Given the description of an element on the screen output the (x, y) to click on. 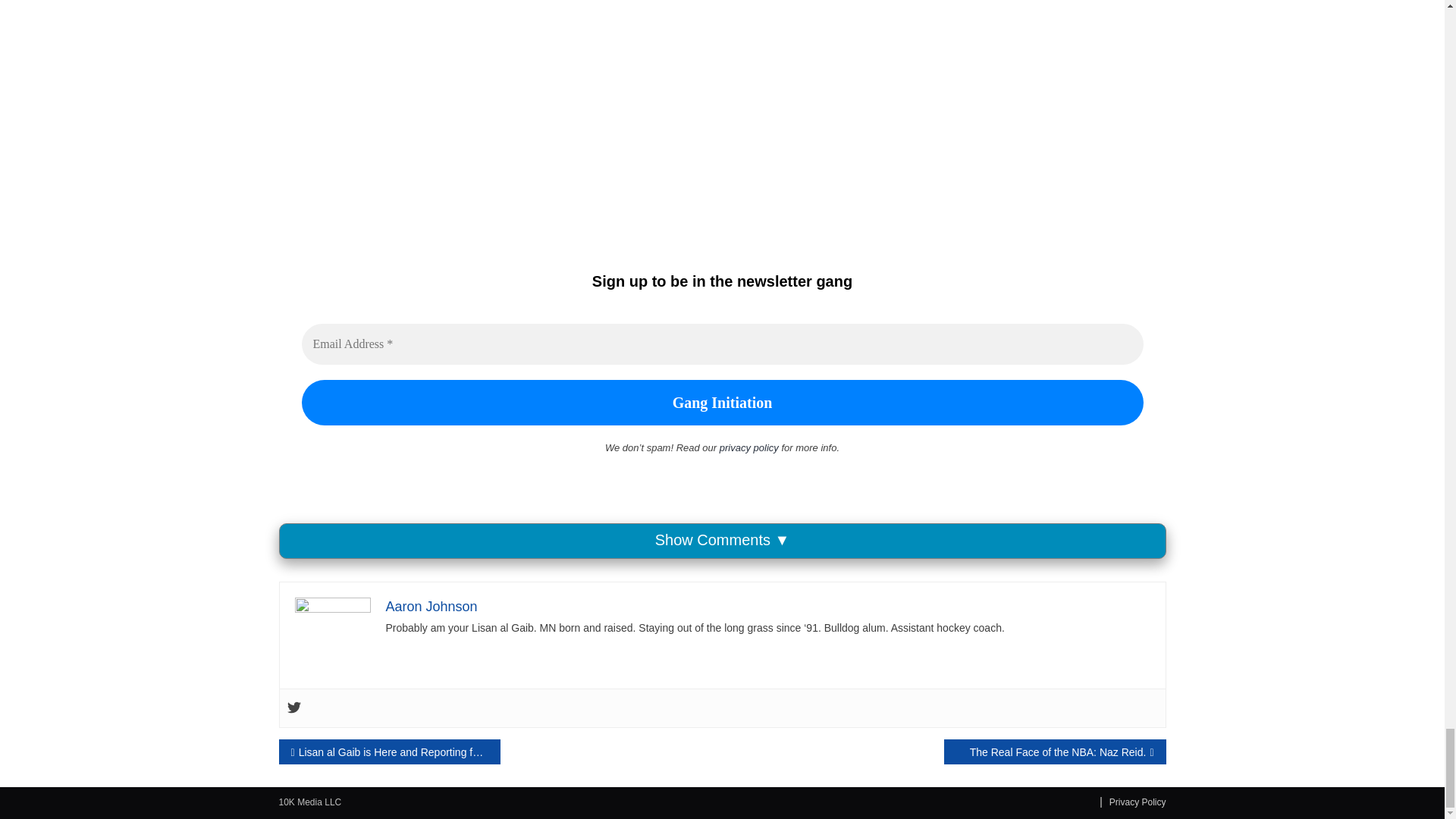
Gang Initiation (721, 402)
Twitter (292, 708)
Email Address (721, 343)
